Given the description of an element on the screen output the (x, y) to click on. 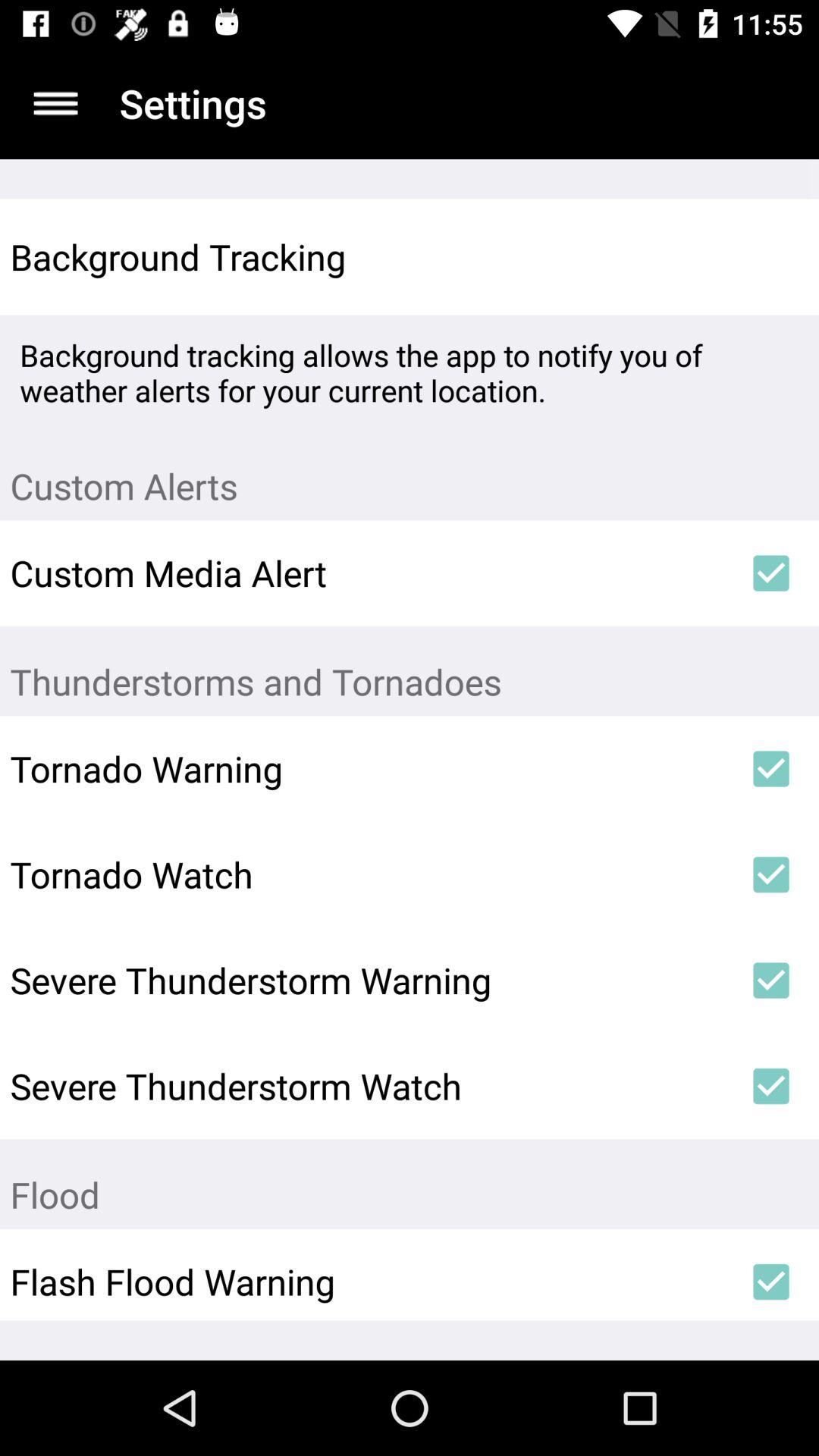
turn off the icon below thunderstorms and tornadoes item (771, 768)
